Given the description of an element on the screen output the (x, y) to click on. 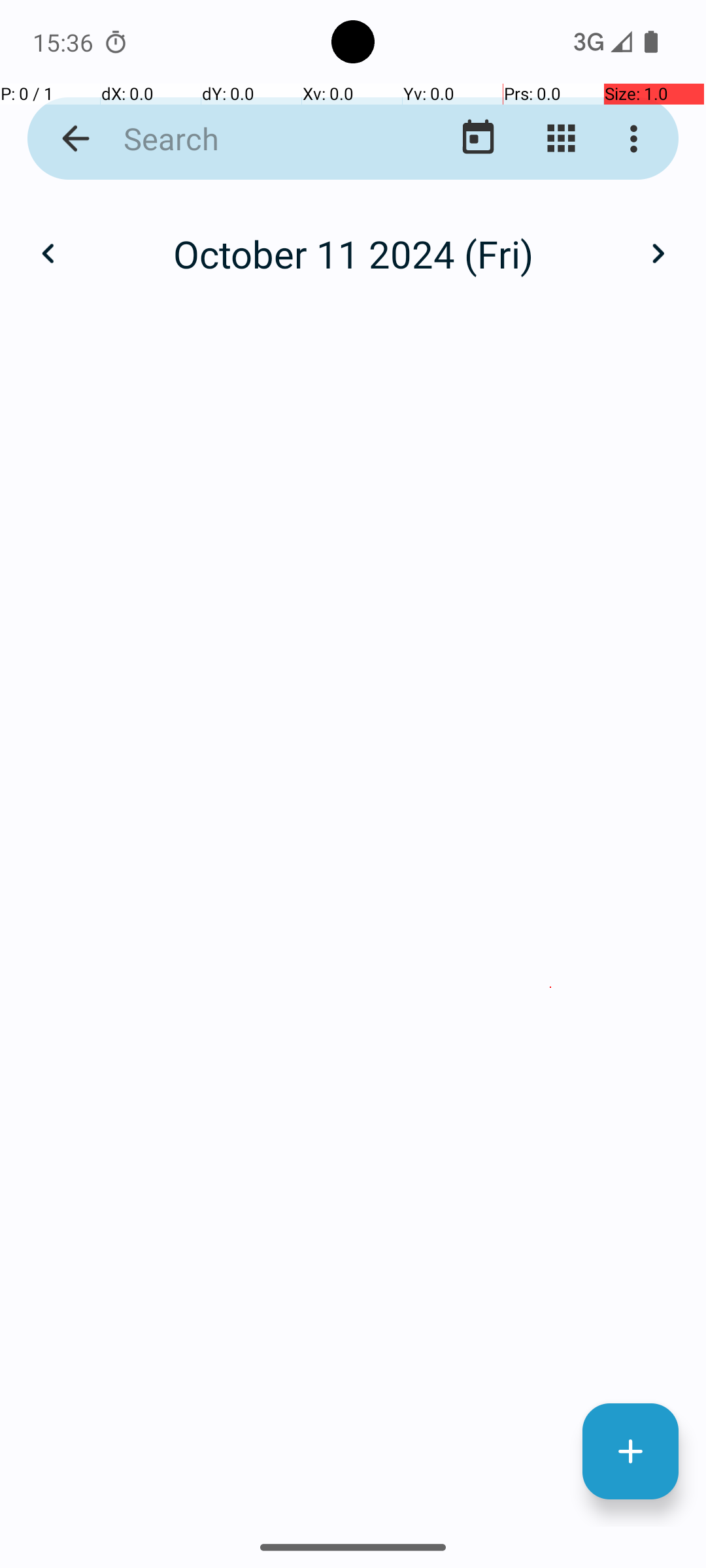
October 11 2024 (Fri) Element type: android.widget.TextView (352, 253)
